Given the description of an element on the screen output the (x, y) to click on. 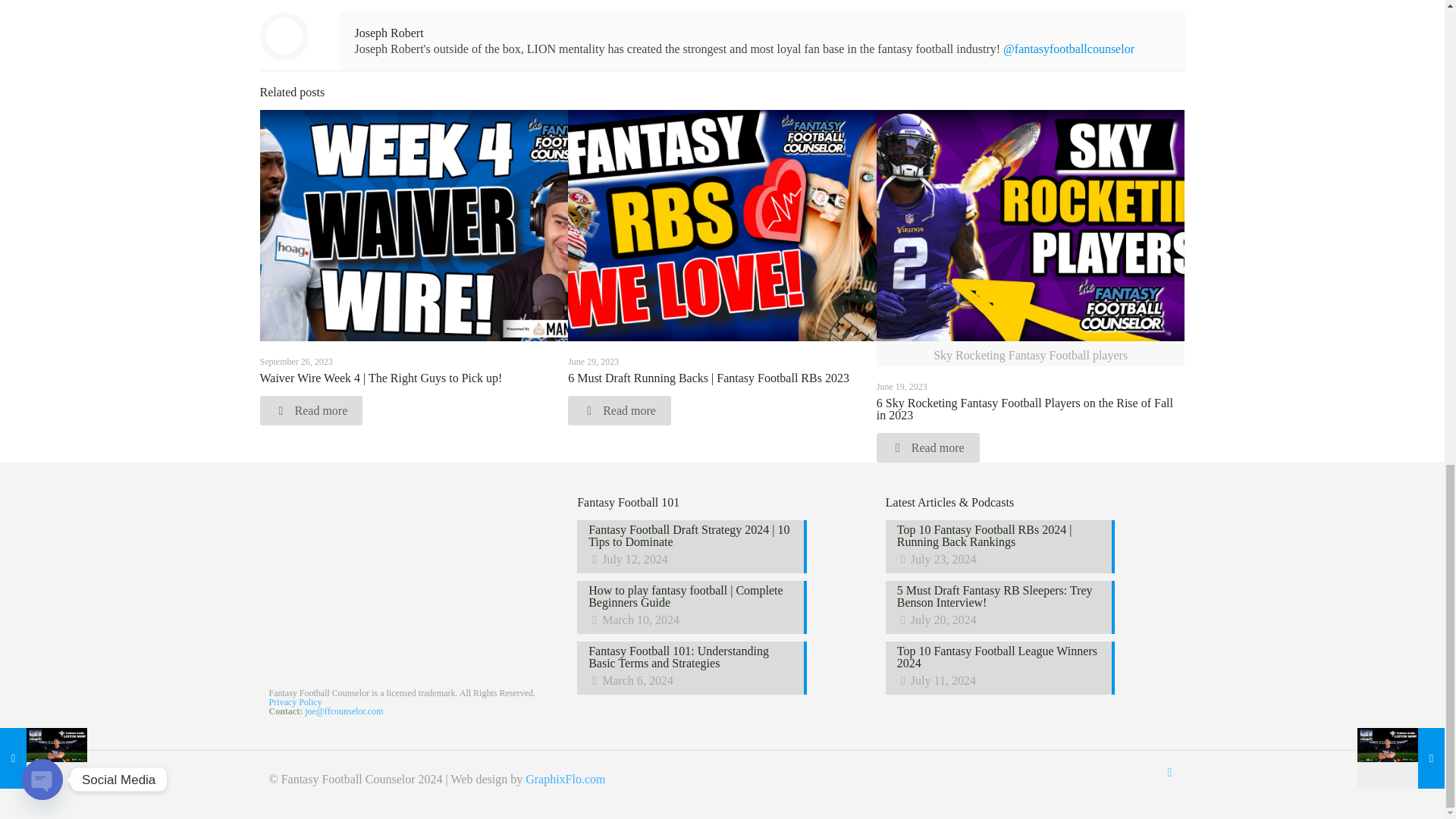
Joseph Robert (389, 32)
Tik Tok (1142, 779)
YouTube (1110, 779)
Instagram (1126, 779)
Facebook (1079, 779)
